Given the description of an element on the screen output the (x, y) to click on. 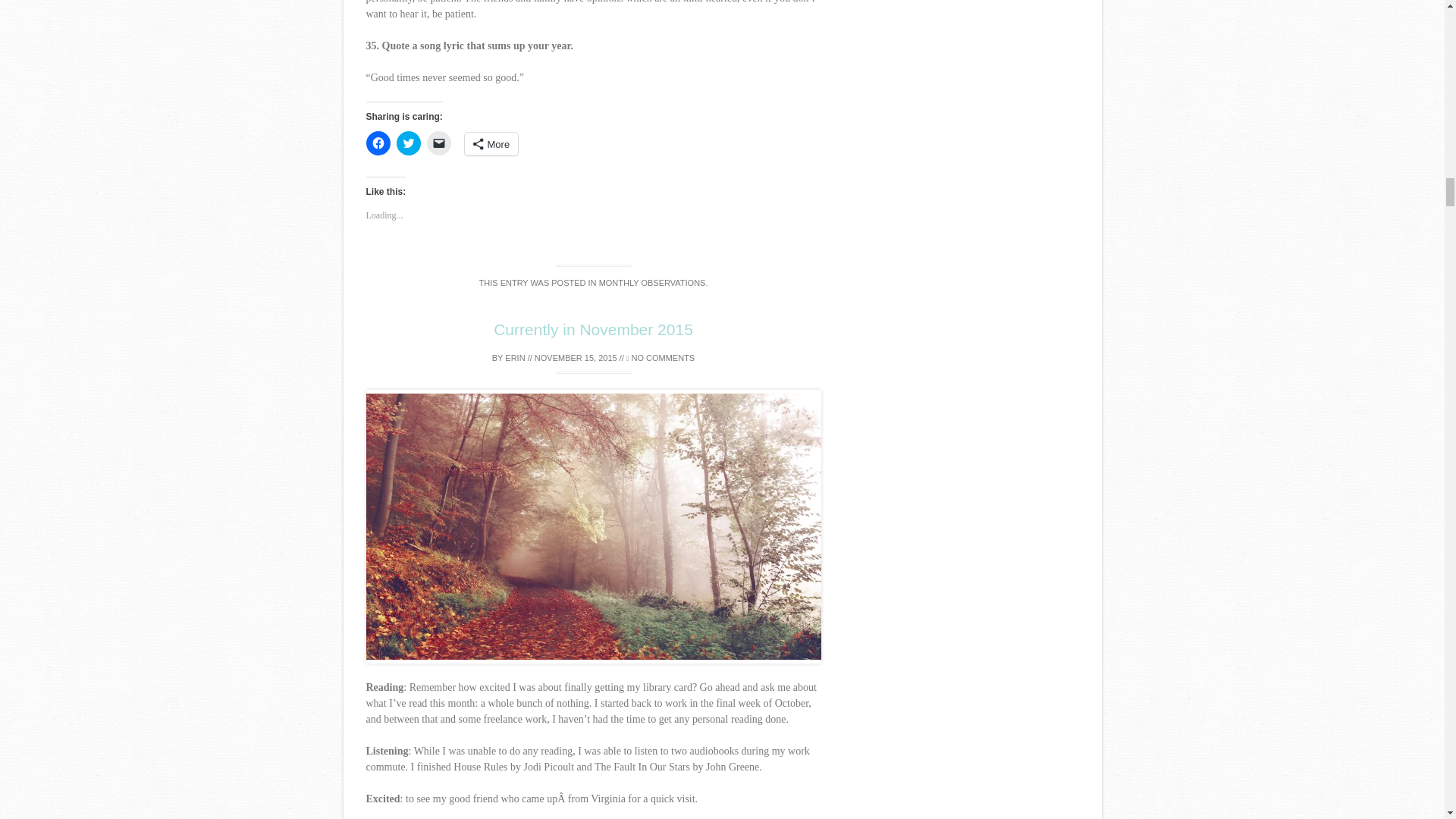
View all posts by erin (514, 357)
10:00 am (575, 357)
Currently in November 2015 (593, 329)
MONTHLY OBSERVATIONS (652, 282)
NOVEMBER 15, 2015 (575, 357)
ERIN (514, 357)
NO COMMENTS (660, 357)
Click to share on Twitter (408, 143)
More (491, 143)
Click to share on Facebook (377, 143)
Click to email a link to a friend (437, 143)
